Given the description of an element on the screen output the (x, y) to click on. 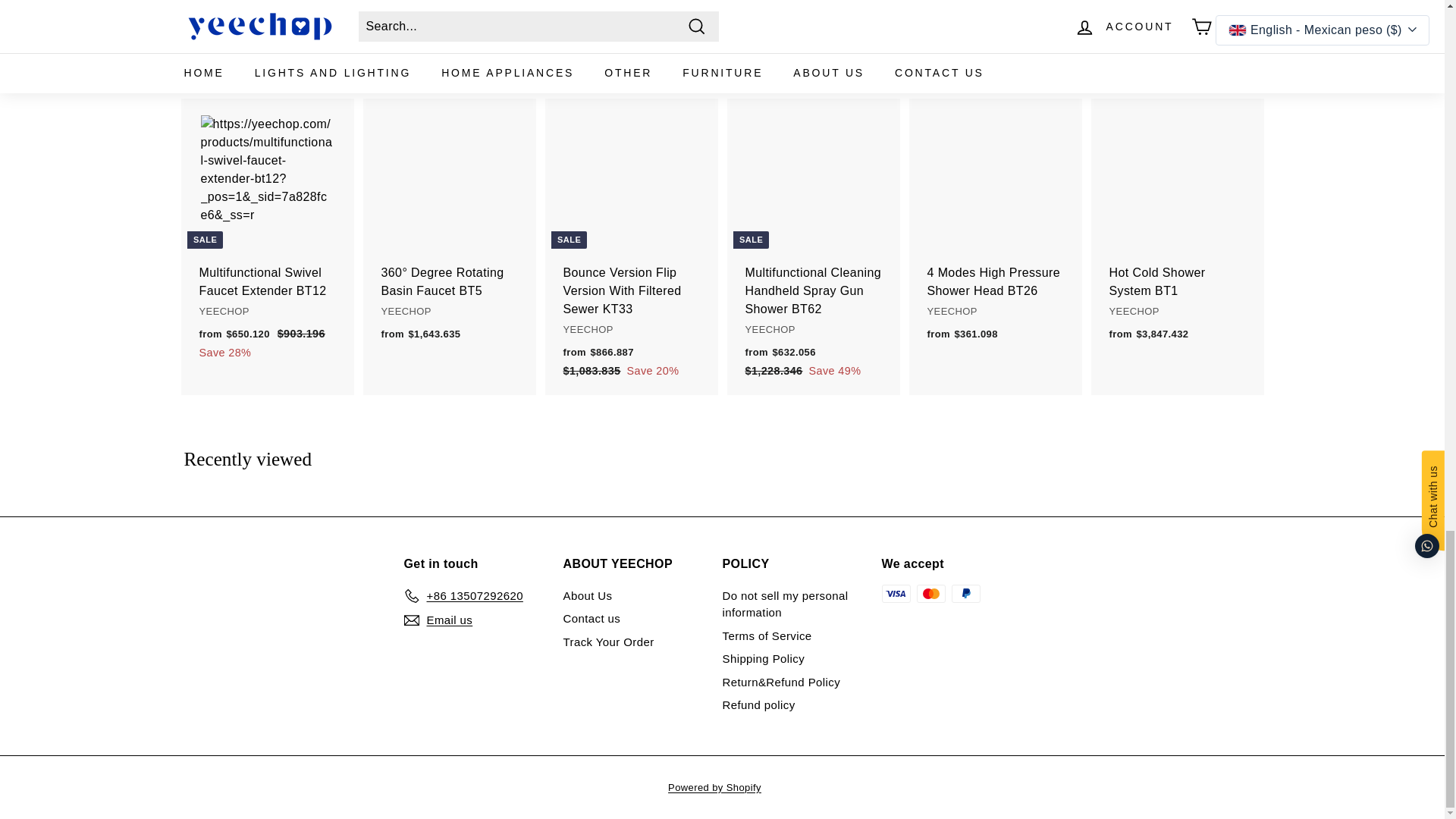
Visa (895, 593)
PayPal (964, 593)
Mastercard (929, 593)
